Given the description of an element on the screen output the (x, y) to click on. 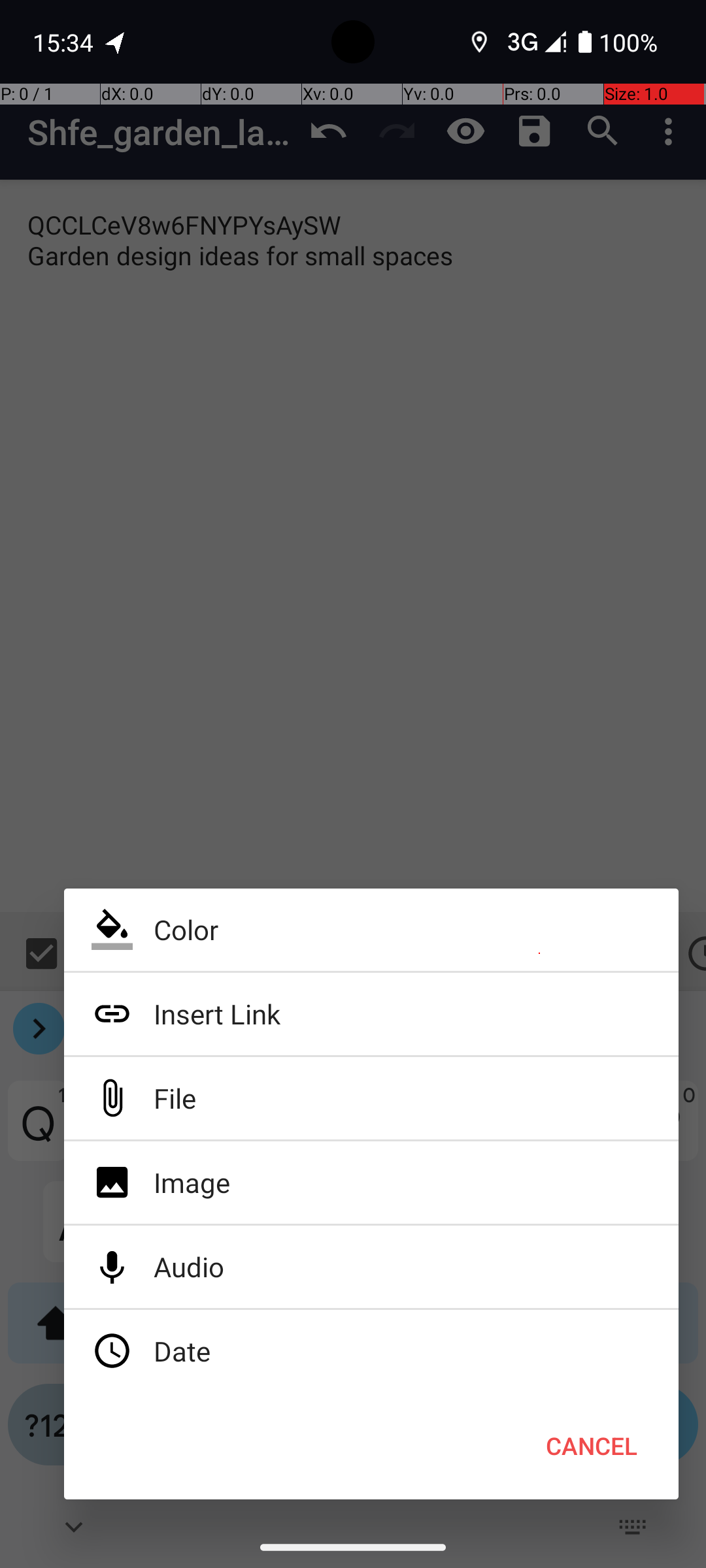
Color Element type: android.widget.TextView (371, 929)
Insert Link Element type: android.widget.TextView (371, 1013)
File Element type: android.widget.TextView (371, 1098)
Image Element type: android.widget.TextView (371, 1182)
